Given the description of an element on the screen output the (x, y) to click on. 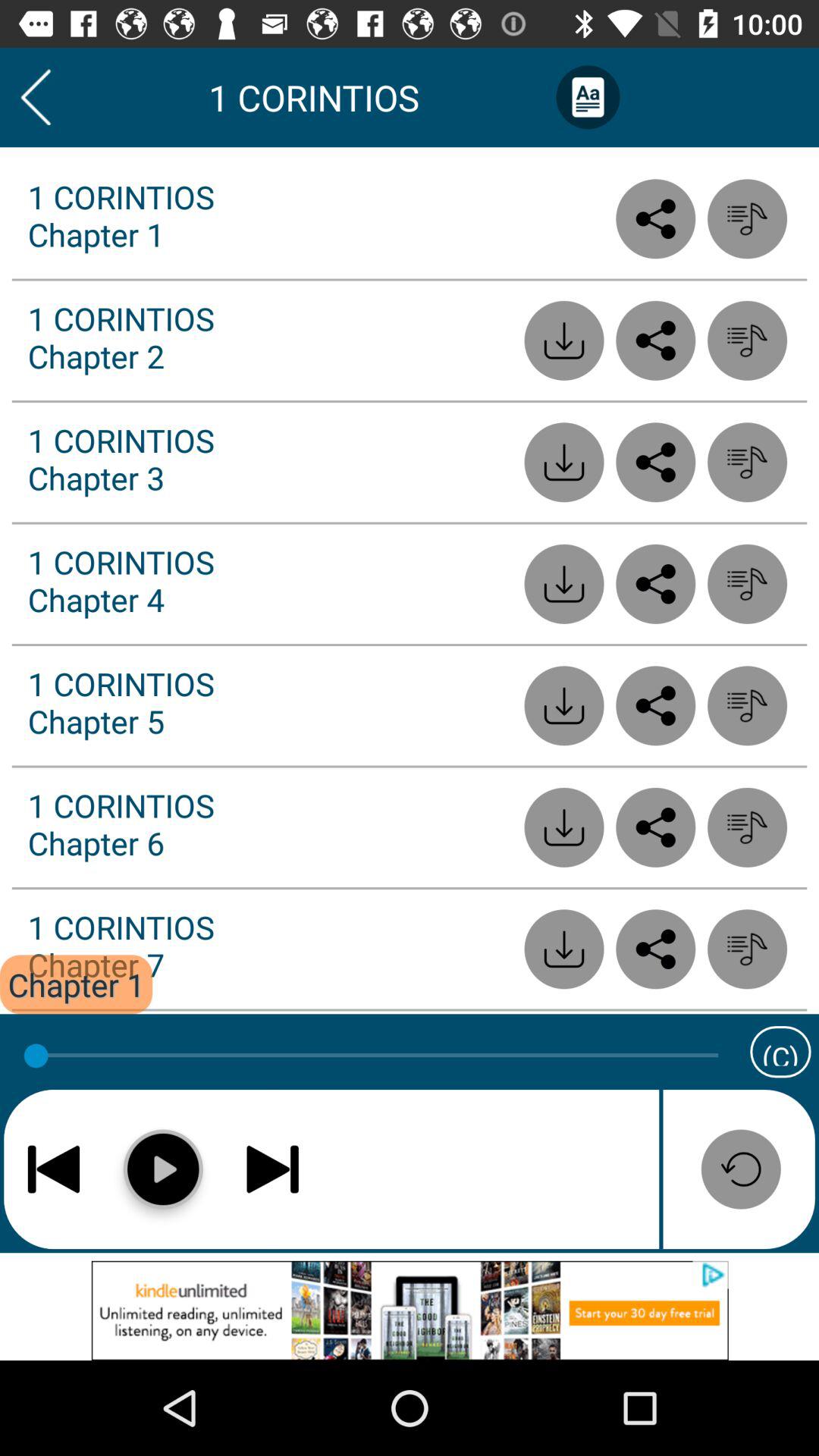
read (655, 340)
